Given the description of an element on the screen output the (x, y) to click on. 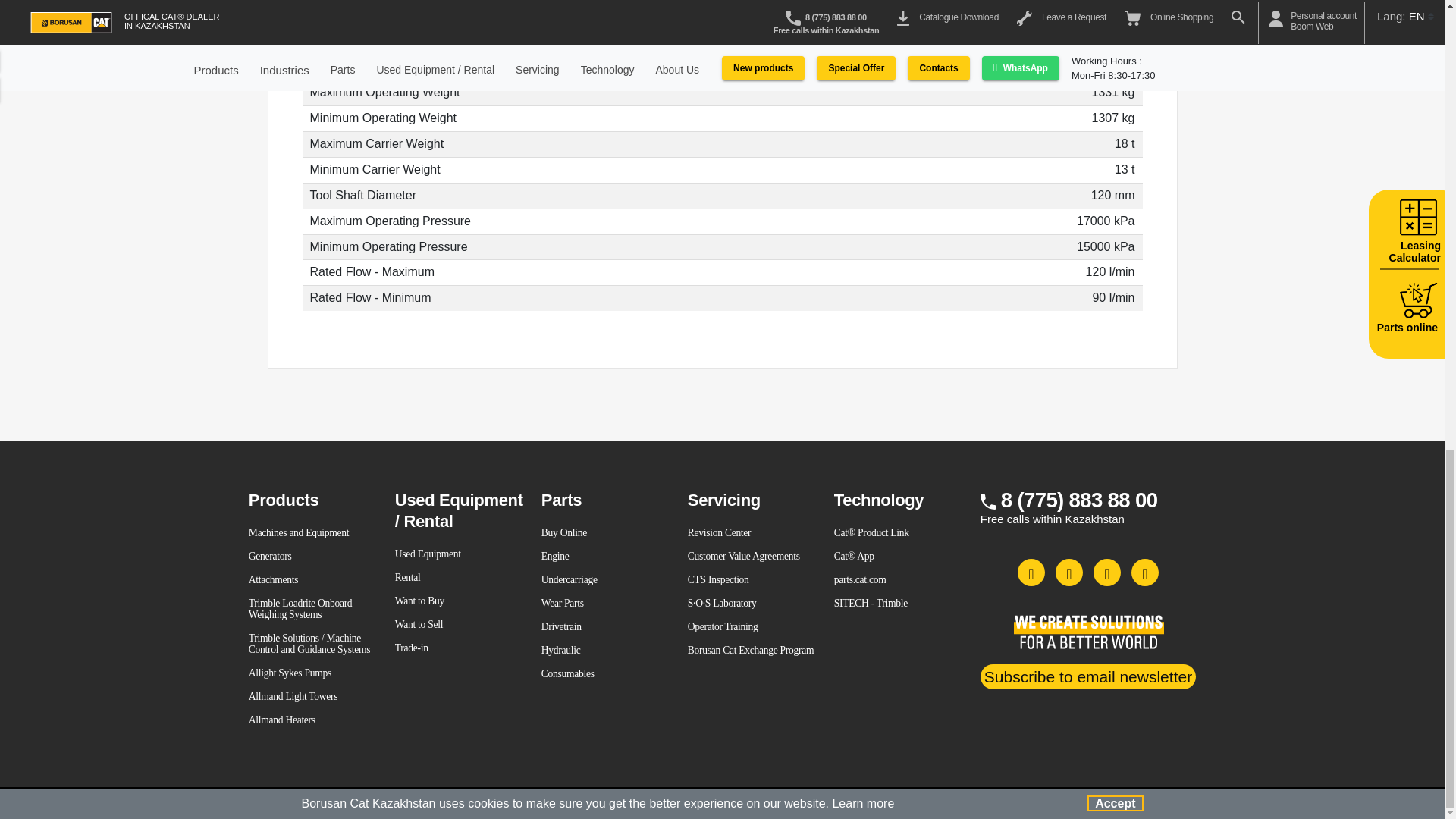
Youtube (1107, 572)
Facebook (1031, 572)
Telegram (1144, 572)
icoInstagram (1069, 572)
Youtube (1087, 676)
